Given the description of an element on the screen output the (x, y) to click on. 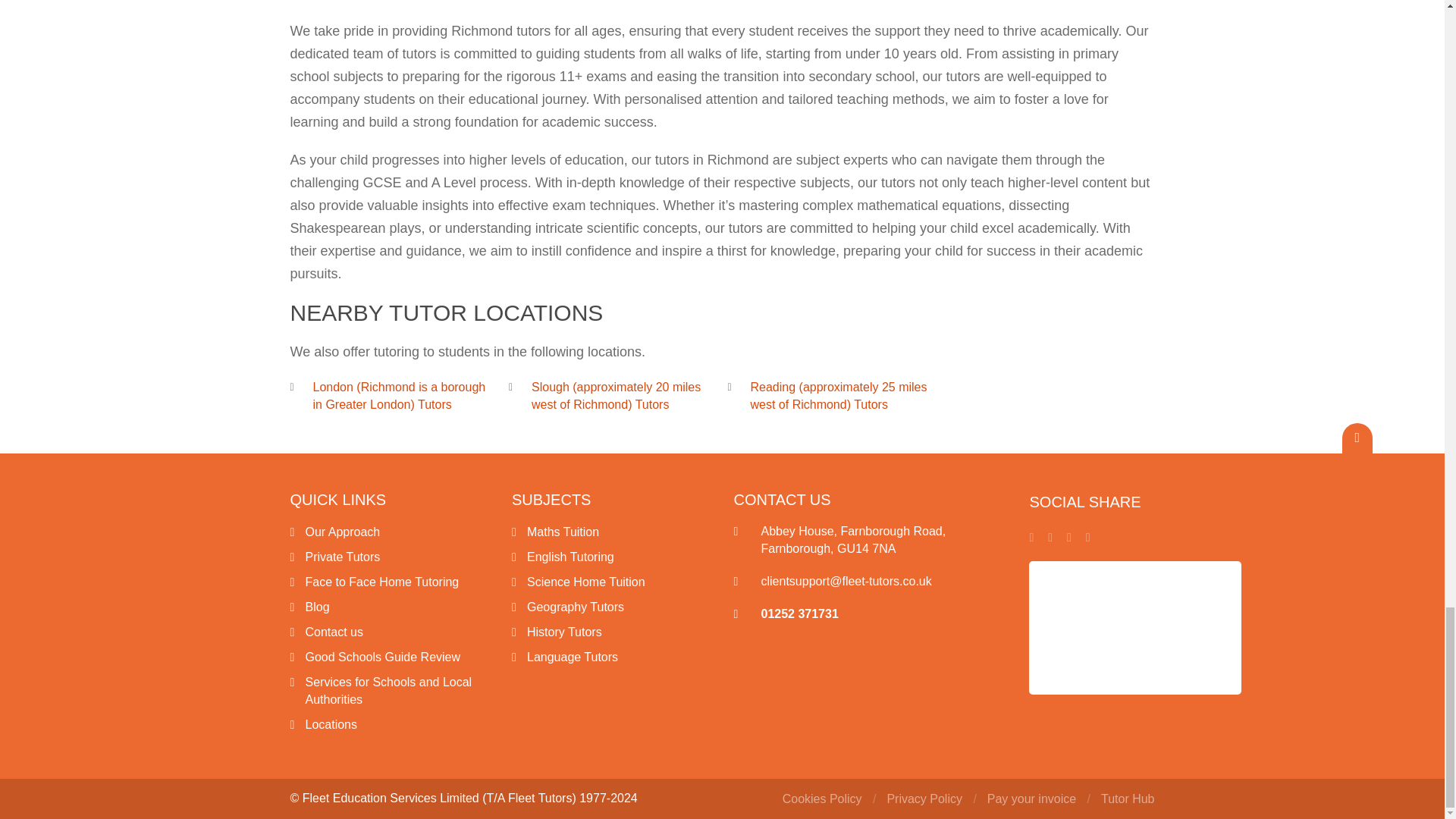
Instagram (1050, 536)
scroll up (1356, 437)
Facebook (1031, 536)
Linkdn (1069, 536)
tell a friend about fleet tutors (1088, 536)
